Given the description of an element on the screen output the (x, y) to click on. 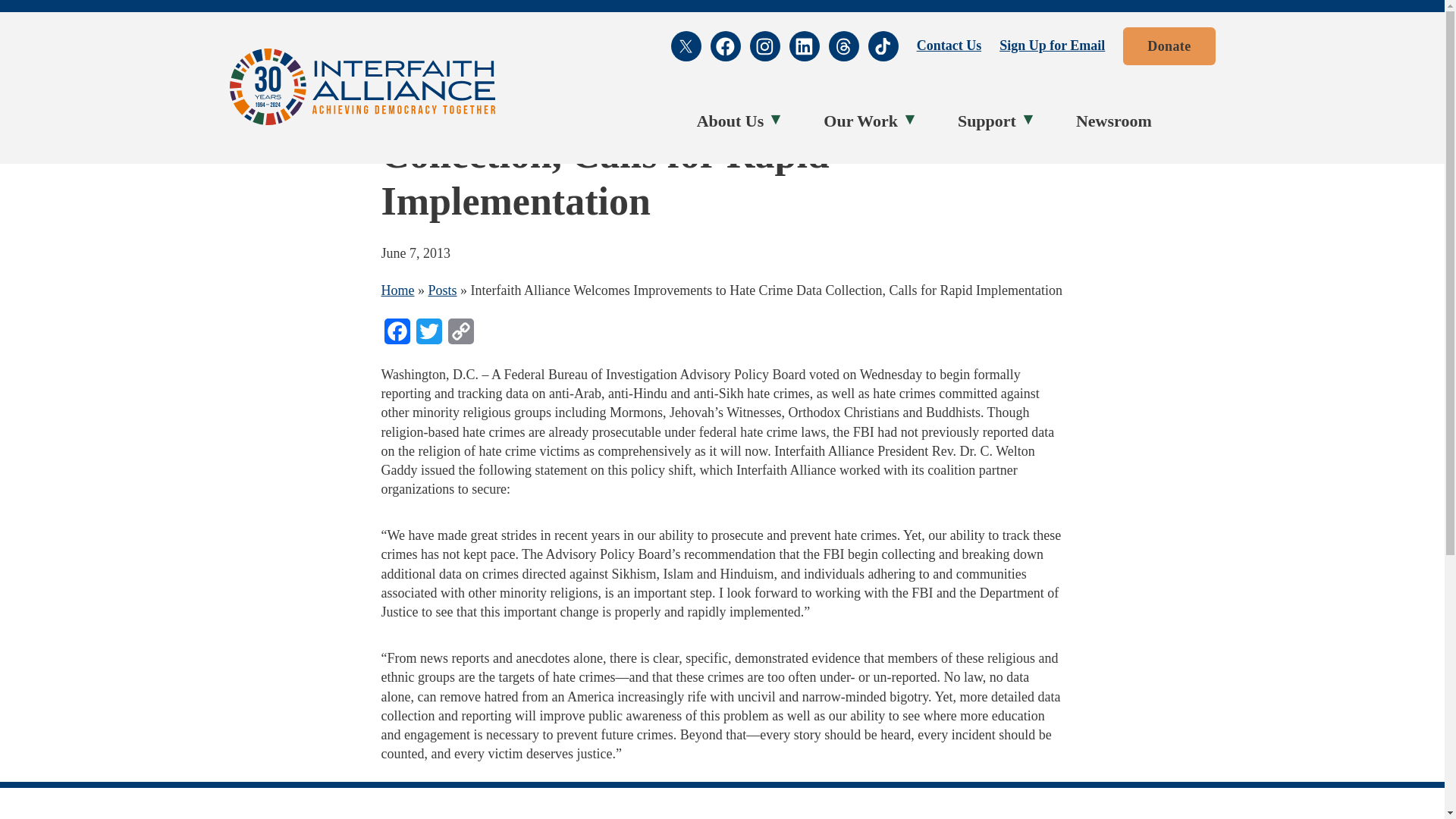
Contact Us (949, 45)
About Us (734, 121)
LinkedIn (804, 46)
Facebook (725, 46)
Threads (843, 46)
Our Work (864, 121)
Instagram (764, 46)
Donate (1168, 46)
Facebook (396, 335)
TikTok (882, 46)
Sign Up for Email (1051, 45)
X (686, 46)
Copy Link (460, 335)
Twitter (428, 335)
